Given the description of an element on the screen output the (x, y) to click on. 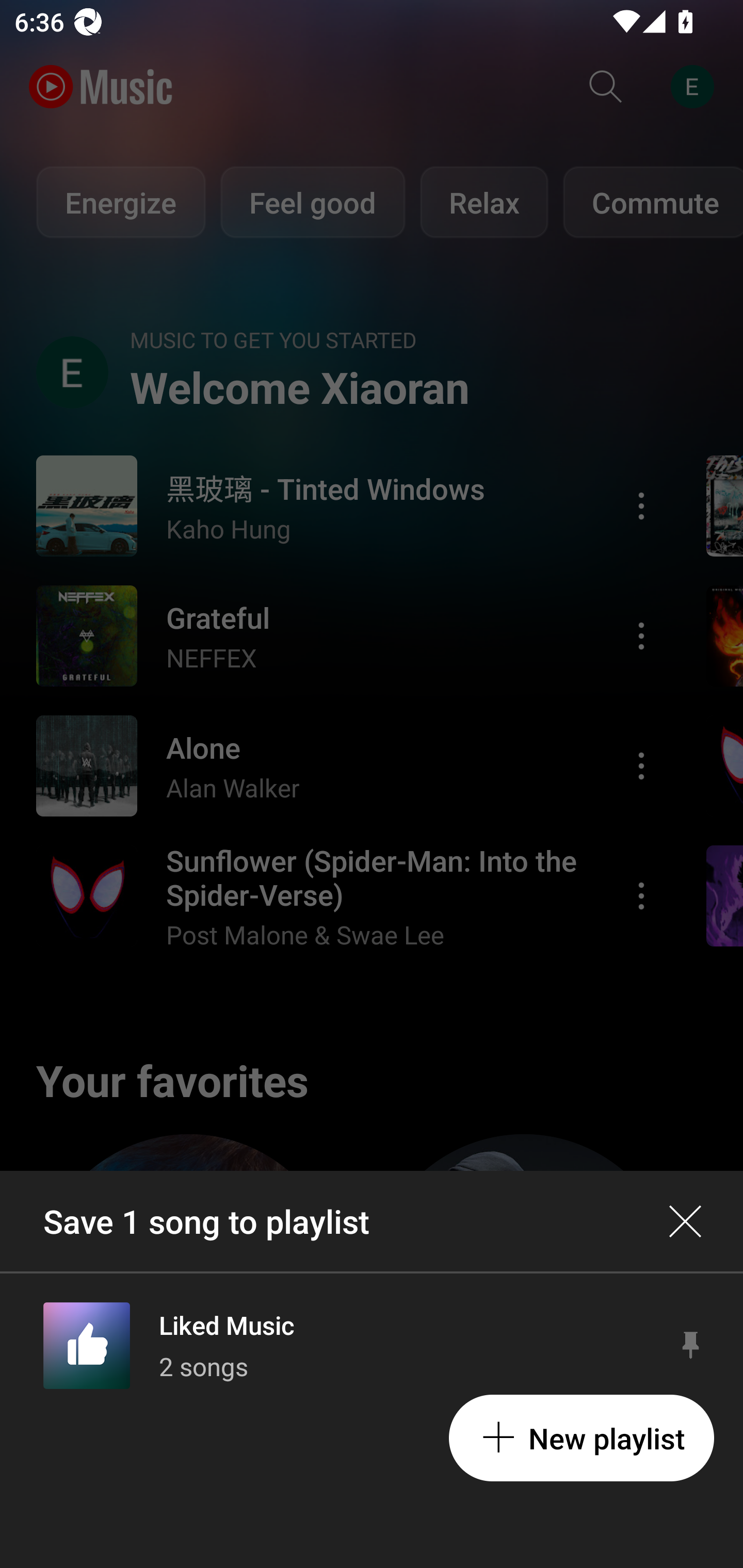
Close (685, 1221)
New playlist (581, 1437)
